Given the description of an element on the screen output the (x, y) to click on. 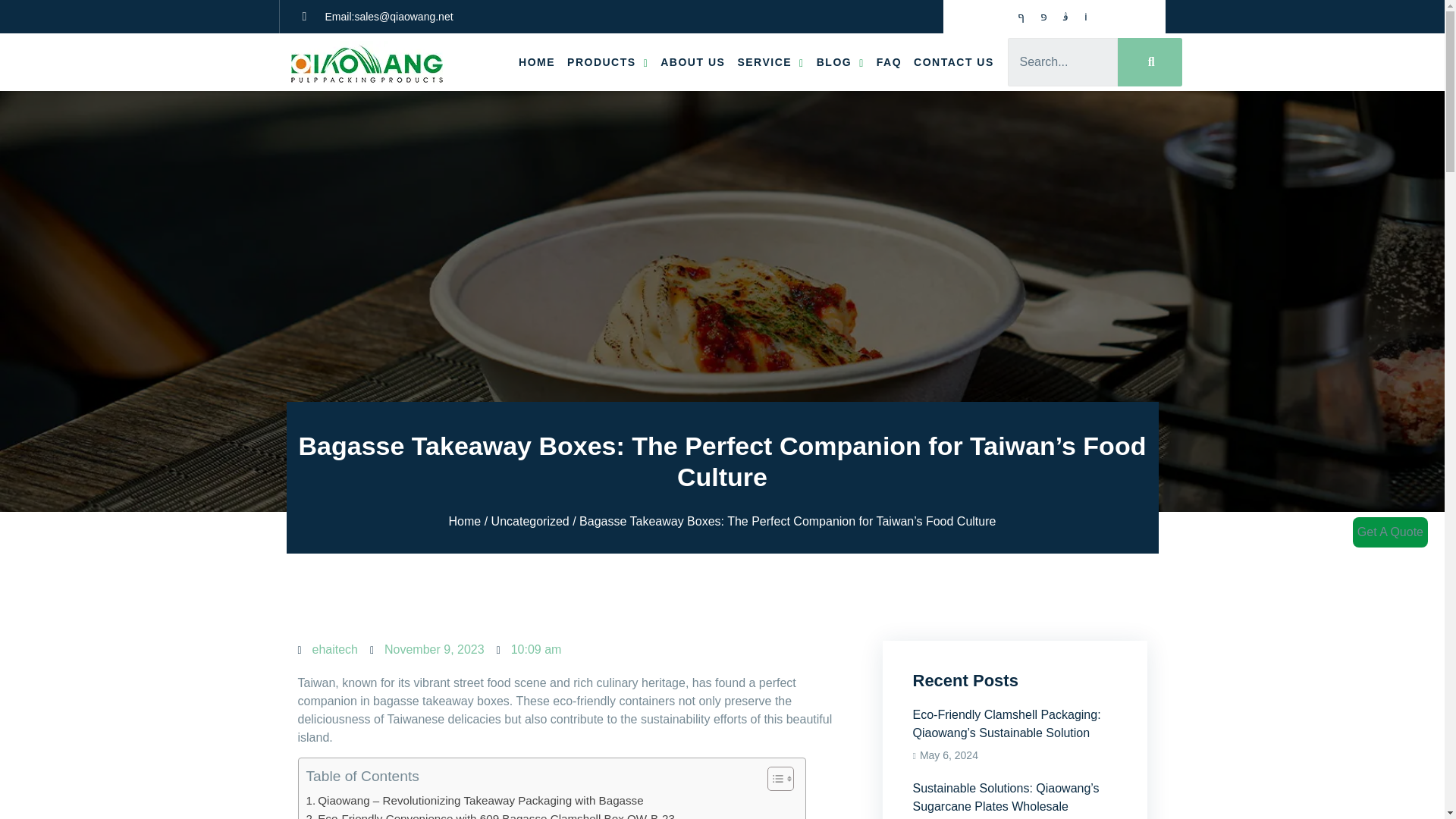
Search (1150, 61)
HOME (536, 61)
ehaitech (327, 649)
Uncategorized (530, 521)
ABOUT US (691, 61)
BLOG (840, 61)
SERVICE (769, 61)
CONTACT US (953, 61)
Search (1062, 61)
Home (464, 521)
FAQ (888, 61)
November 9, 2023 (426, 649)
PRODUCTS (606, 61)
